Given the description of an element on the screen output the (x, y) to click on. 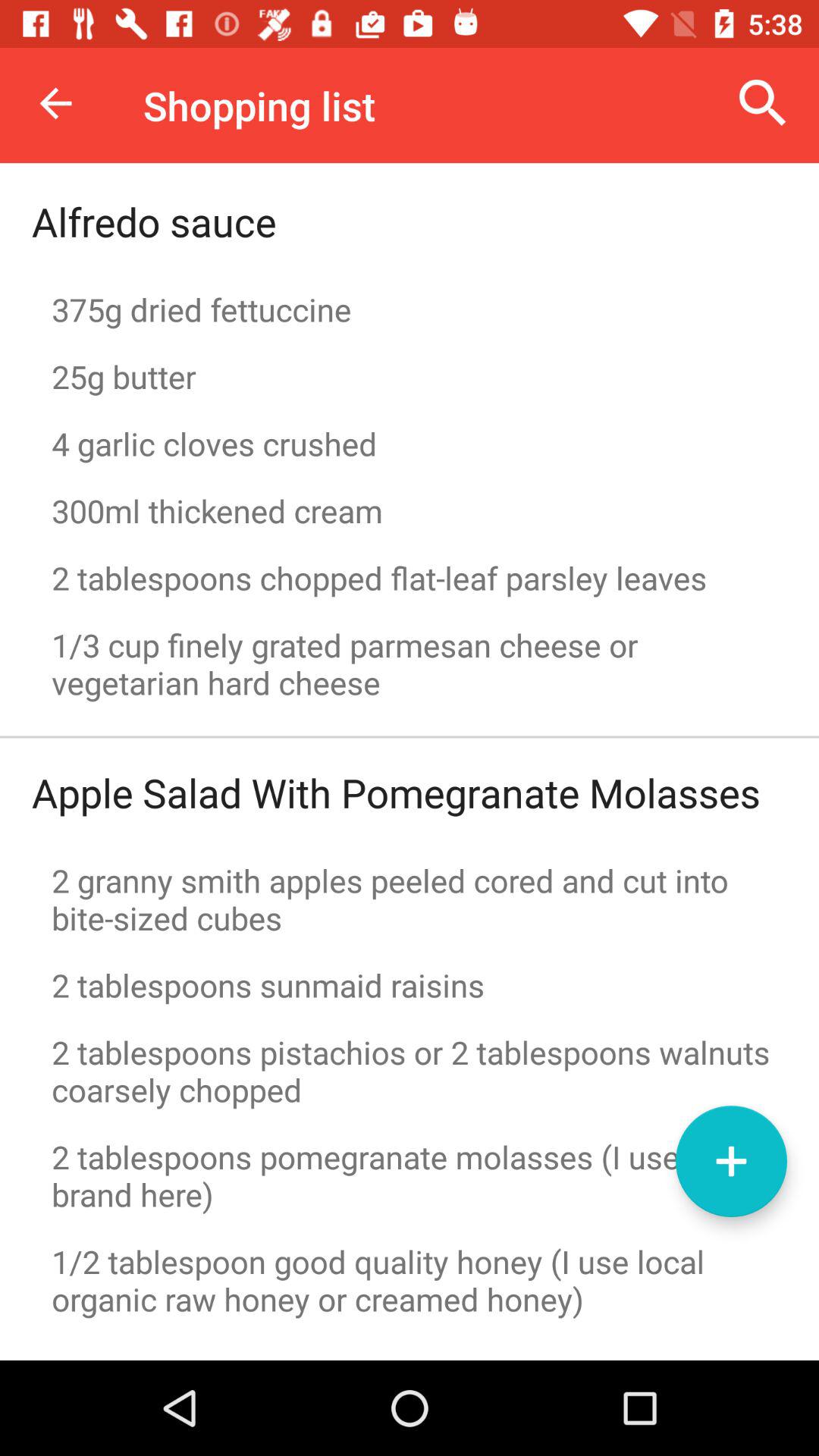
turn on 2 granny smith icon (409, 898)
